Given the description of an element on the screen output the (x, y) to click on. 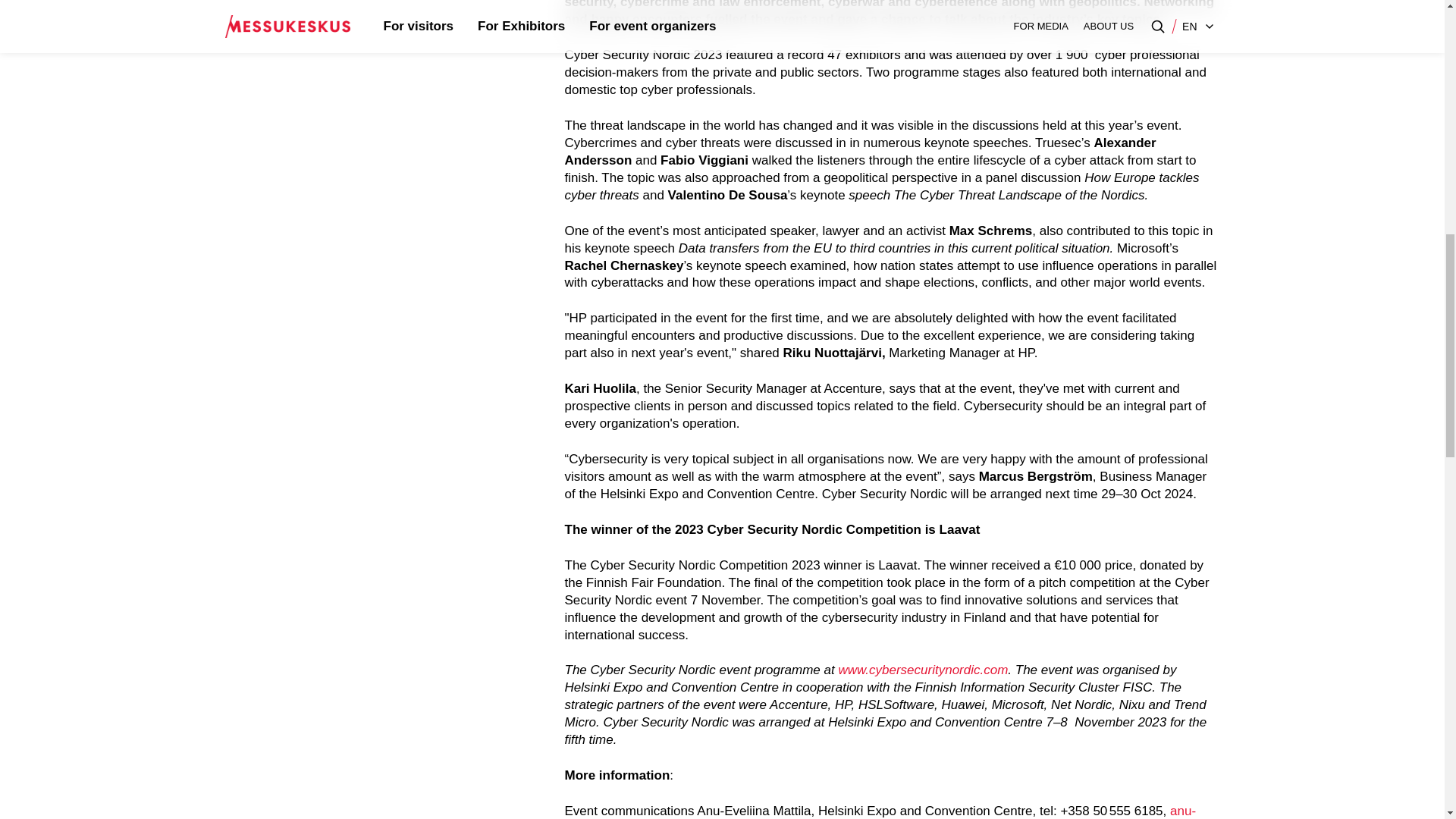
www.cybersecuritynordic.com (922, 669)
